Given the description of an element on the screen output the (x, y) to click on. 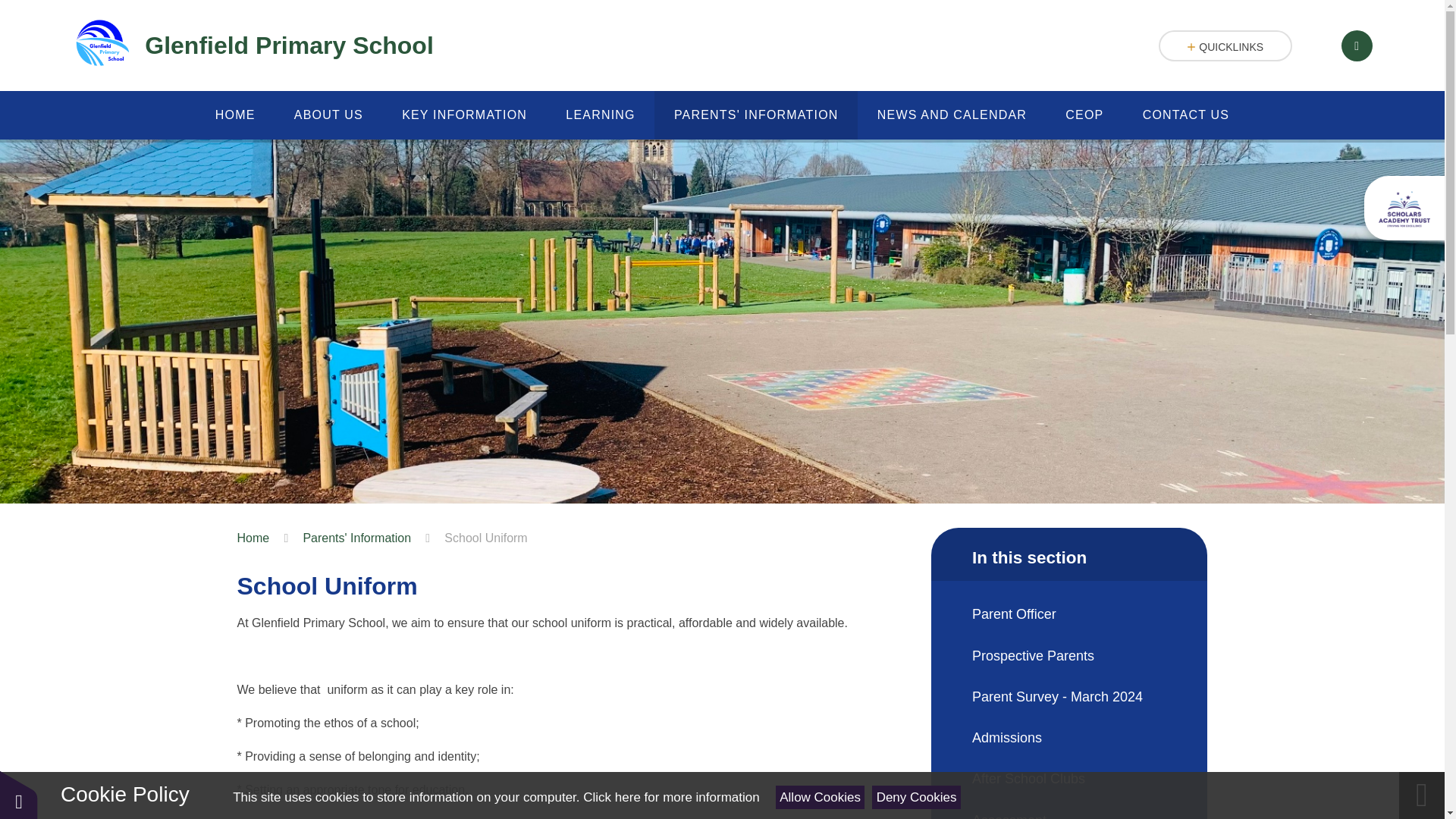
Allow Cookies (820, 797)
HOME (235, 114)
KEY INFORMATION (464, 114)
See cookie policy (670, 797)
Deny Cookies (915, 797)
Glenfield Primary School (252, 45)
ABOUT US (328, 114)
